Given the description of an element on the screen output the (x, y) to click on. 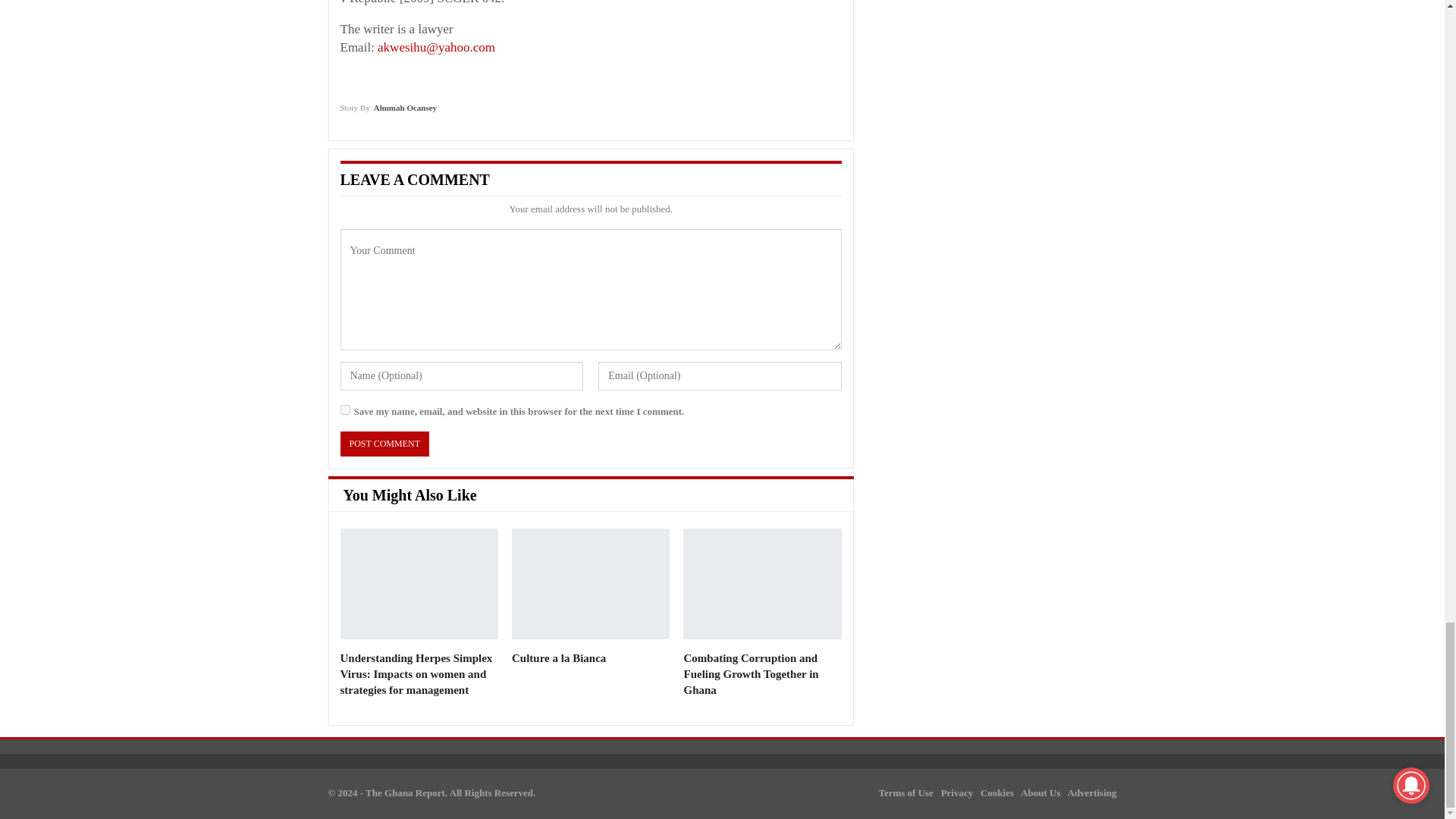
Combating Corruption and Fueling Growth Together in Ghana (750, 673)
Culture a la Bianca (558, 657)
Story By Ahumah Ocansey (387, 112)
Post Comment (383, 443)
Combating Corruption and Fueling Growth Together in Ghana (761, 583)
Post Comment (383, 443)
Culture a la Bianca (558, 657)
Browse Author Articles (387, 112)
yes (344, 409)
Combating Corruption and Fueling Growth Together in Ghana (750, 673)
Culture a la Bianca (590, 583)
